Given the description of an element on the screen output the (x, y) to click on. 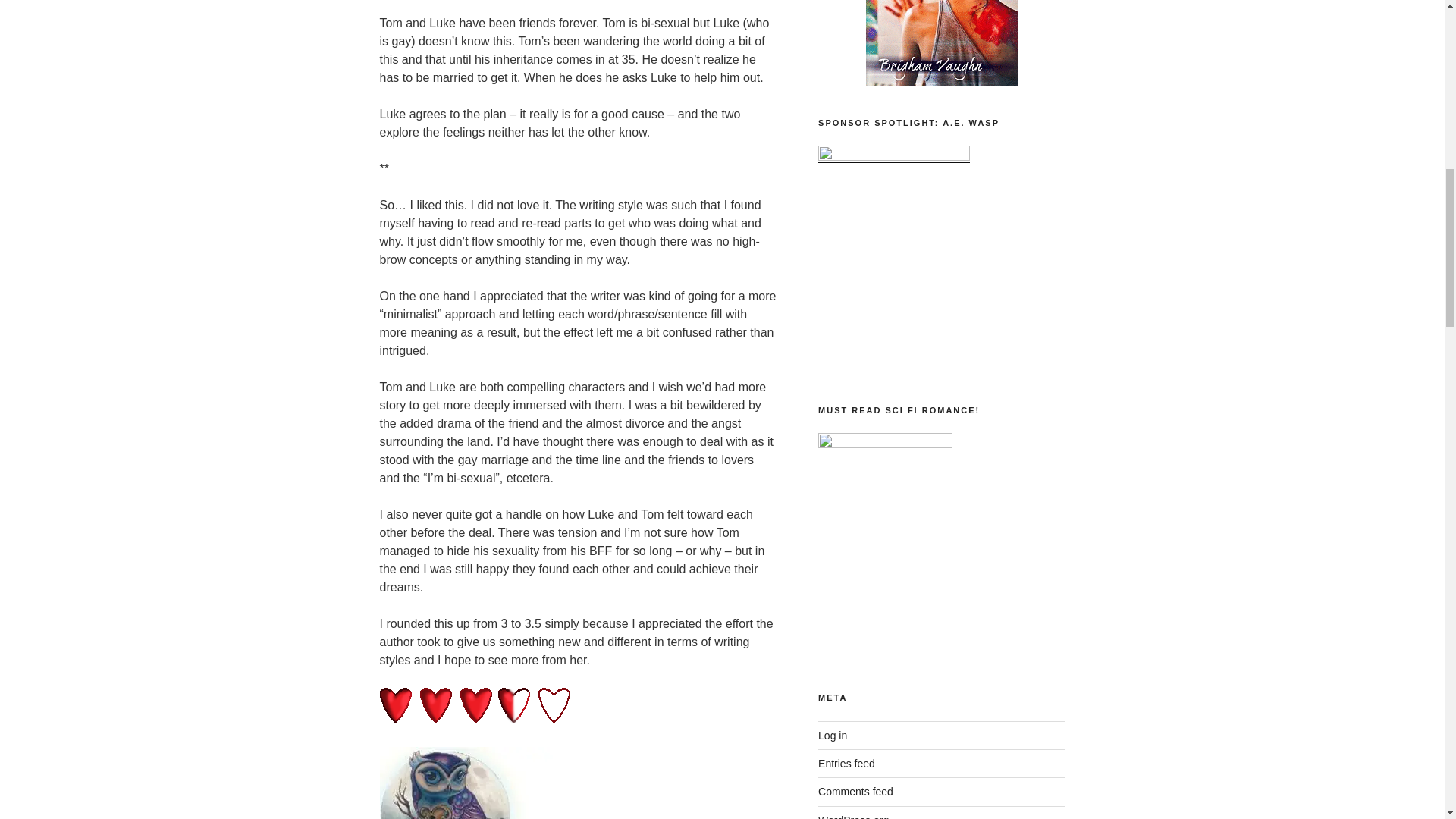
Comments feed (855, 791)
Log in (832, 735)
WordPress.org (853, 816)
Entries feed (846, 763)
